Given the description of an element on the screen output the (x, y) to click on. 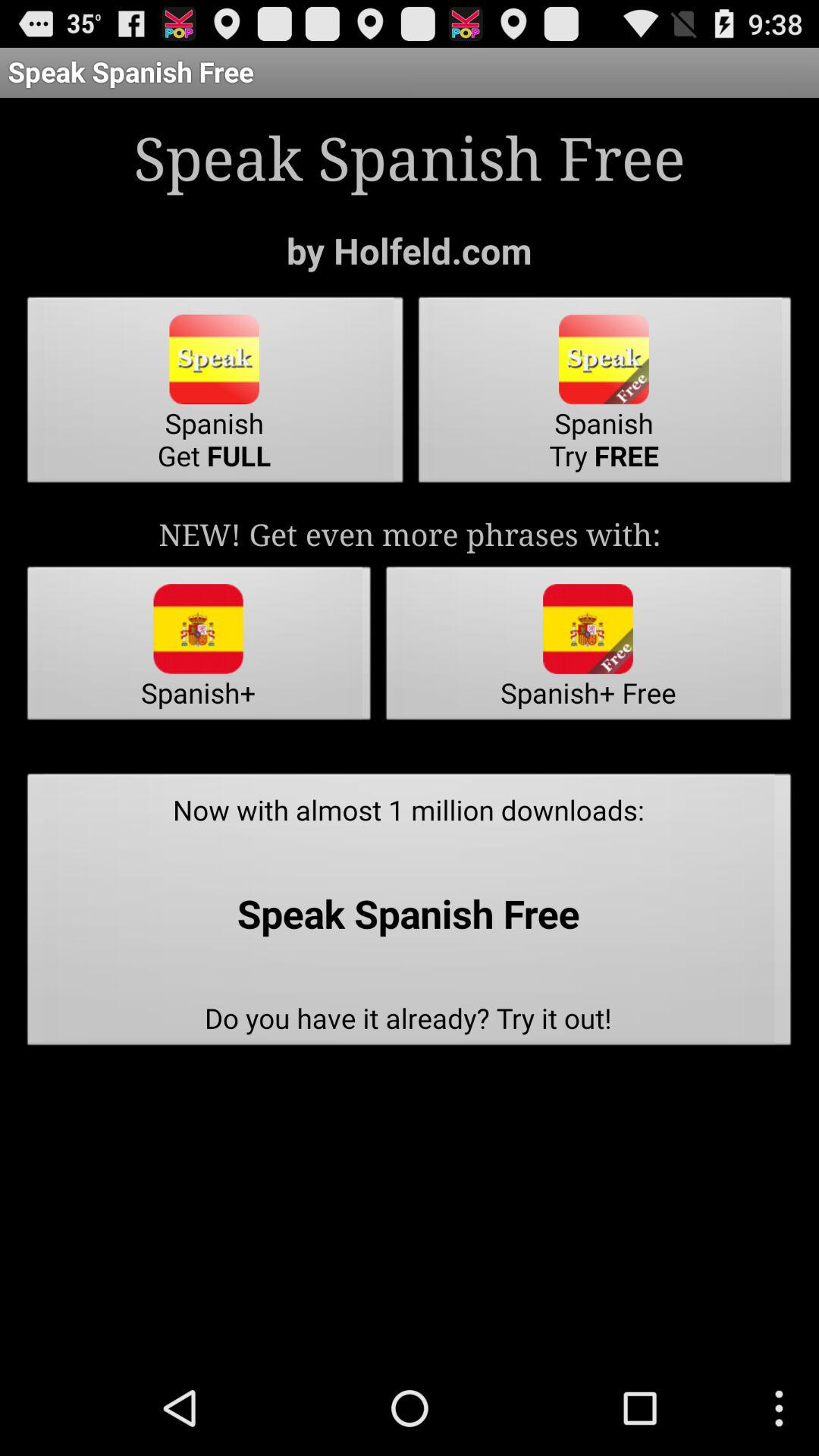
swipe until now with almost item (409, 913)
